Given the description of an element on the screen output the (x, y) to click on. 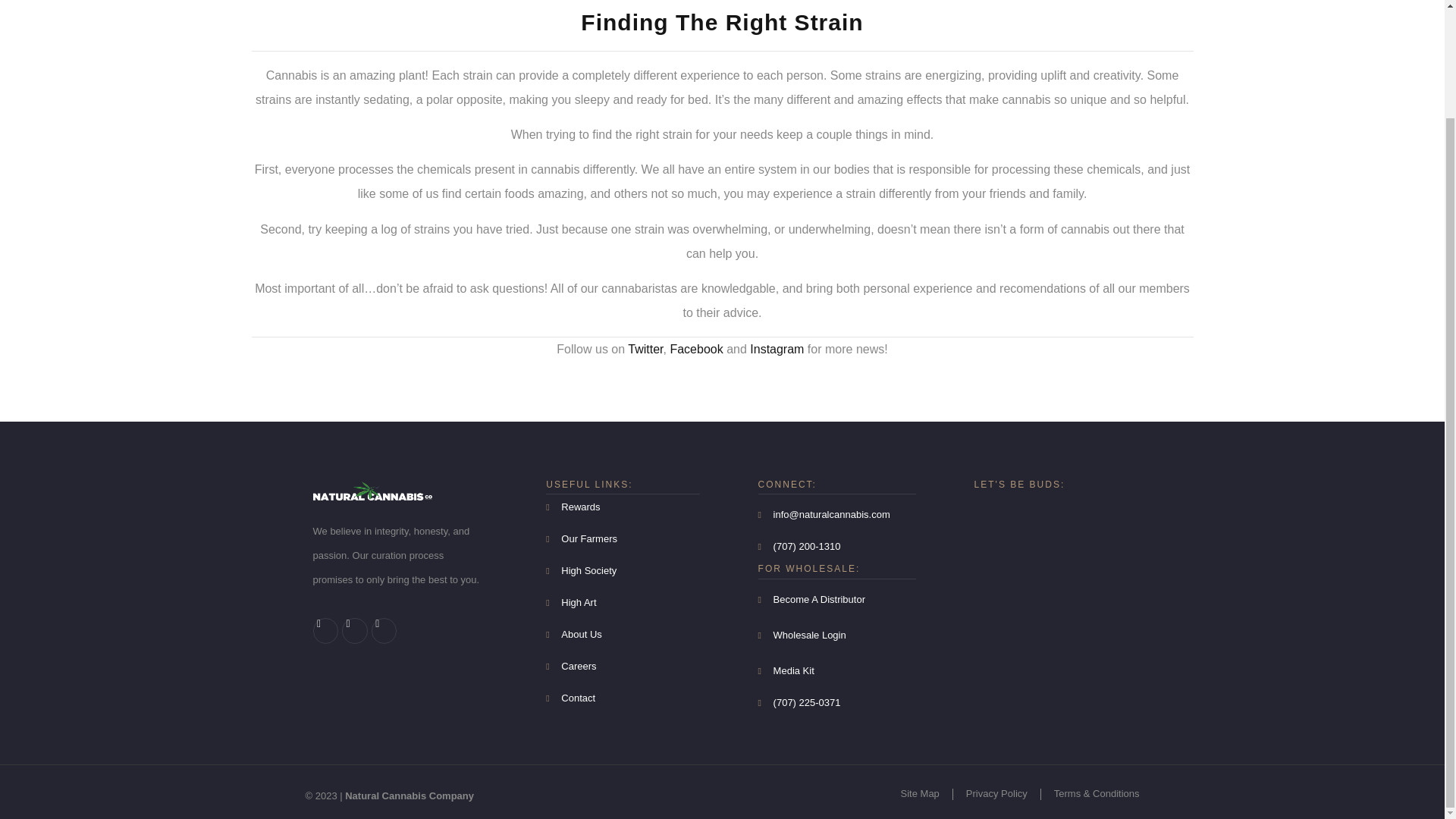
Twitter (644, 349)
Instagram (776, 349)
Facebook (695, 349)
Rewards (622, 507)
Our Farmers (622, 539)
